Given the description of an element on the screen output the (x, y) to click on. 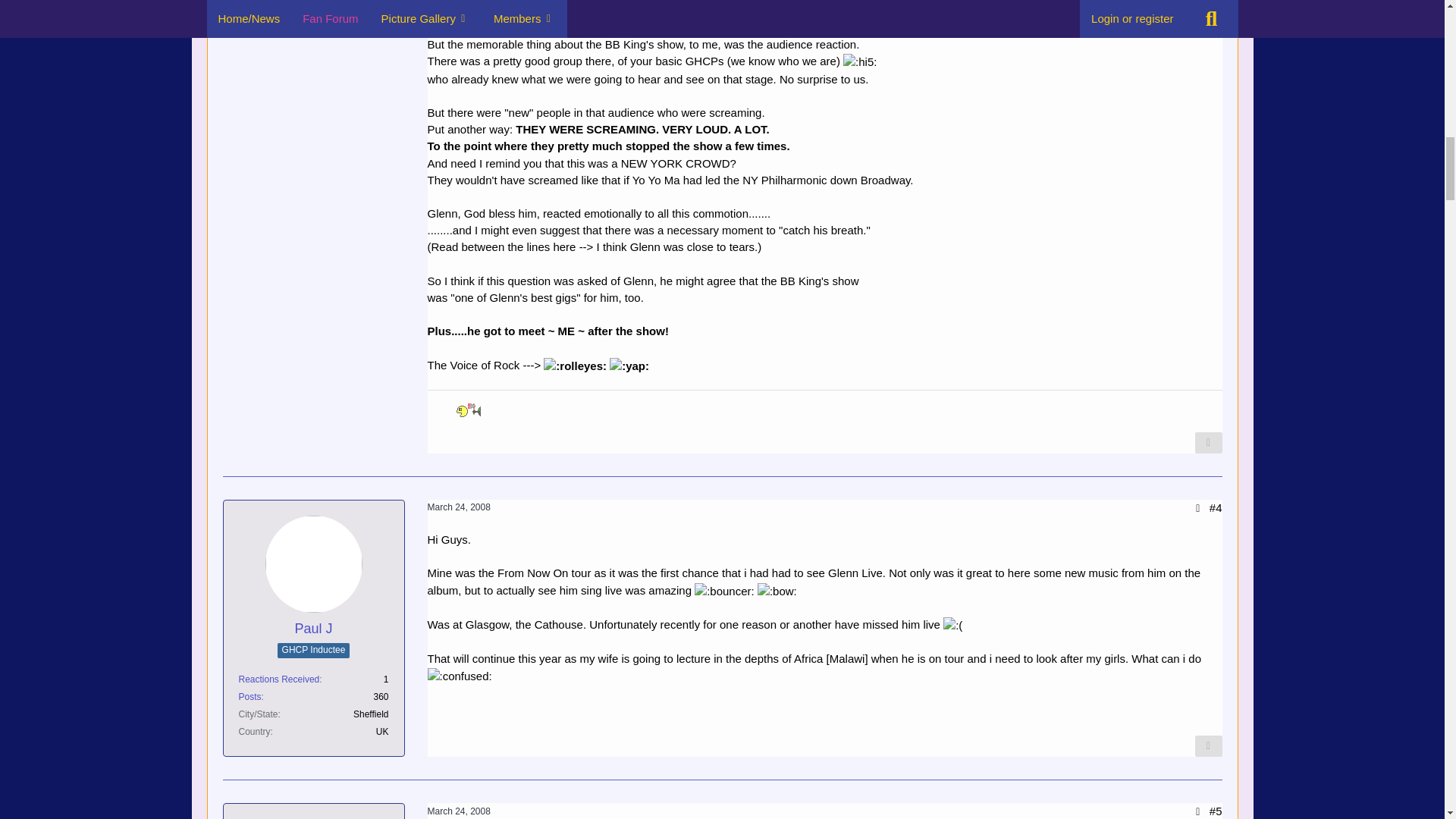
rolleyes (575, 365)
sad (952, 625)
Bow (776, 591)
Hi5 (859, 62)
Yap (629, 365)
Bouncer (724, 591)
Confused (460, 676)
